Given the description of an element on the screen output the (x, y) to click on. 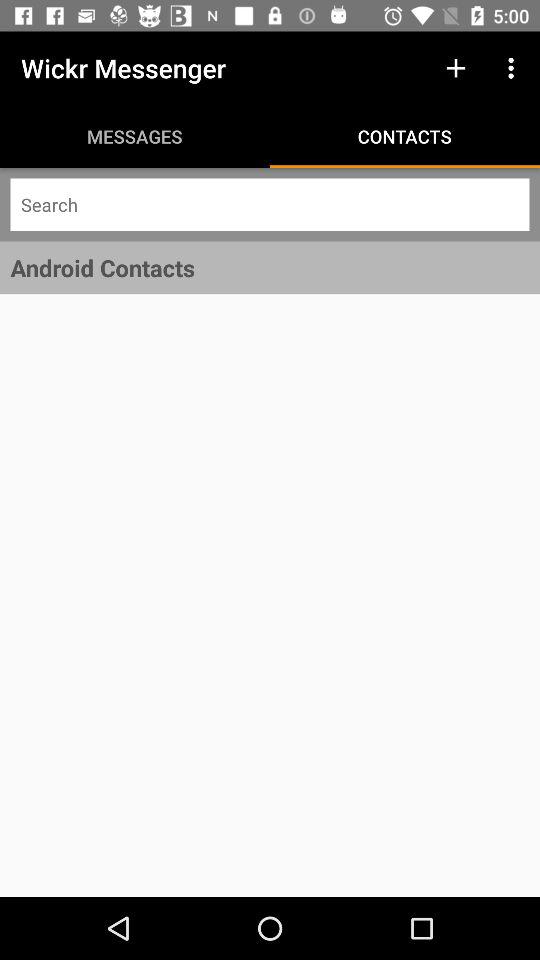
press the item above the android contacts (269, 204)
